Given the description of an element on the screen output the (x, y) to click on. 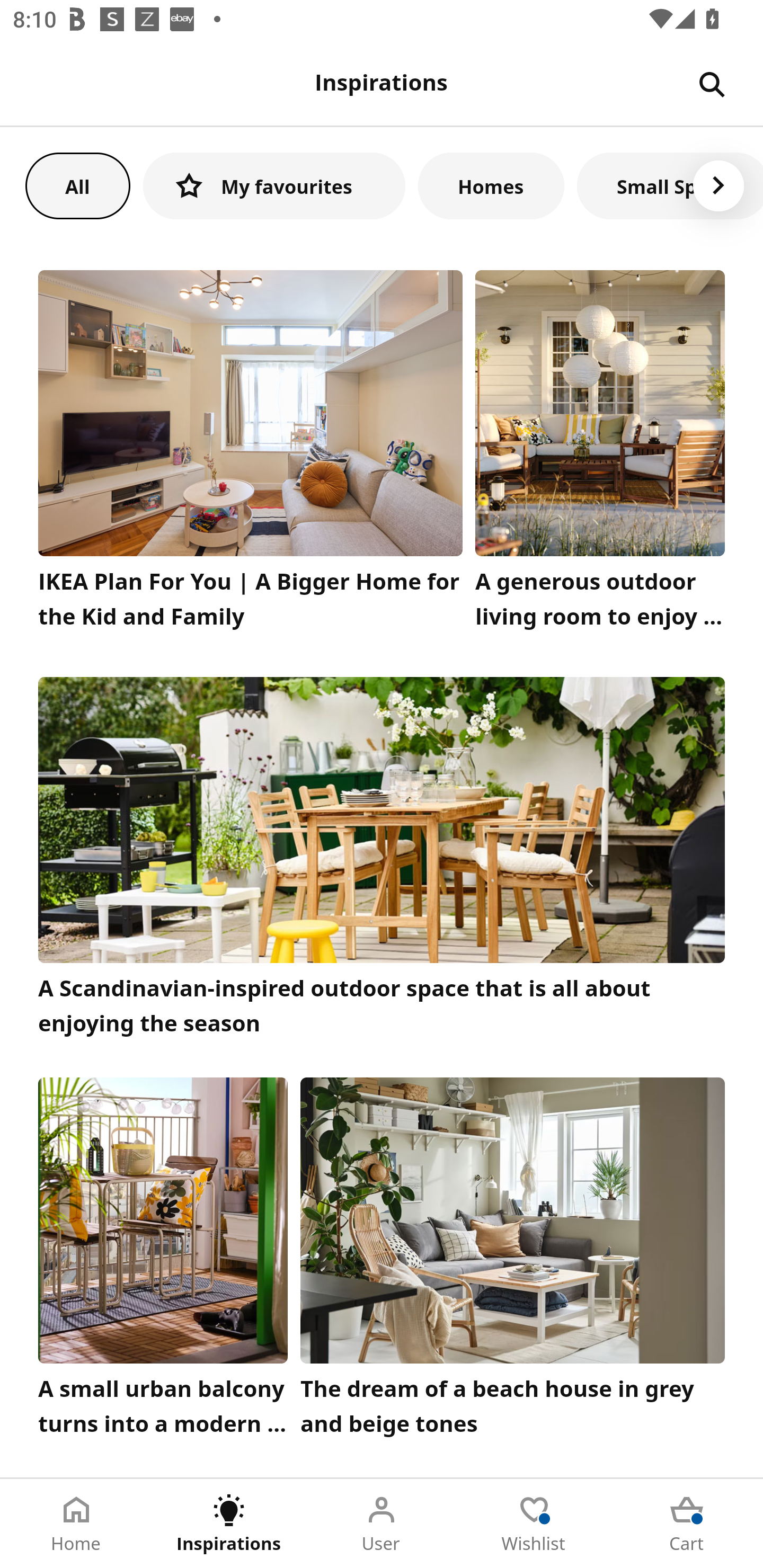
All (77, 185)
My favourites (274, 185)
Homes (491, 185)
The dream of a beach house in grey and beige tones (512, 1261)
Home
Tab 1 of 5 (76, 1522)
Inspirations
Tab 2 of 5 (228, 1522)
User
Tab 3 of 5 (381, 1522)
Wishlist
Tab 4 of 5 (533, 1522)
Cart
Tab 5 of 5 (686, 1522)
